Given the description of an element on the screen output the (x, y) to click on. 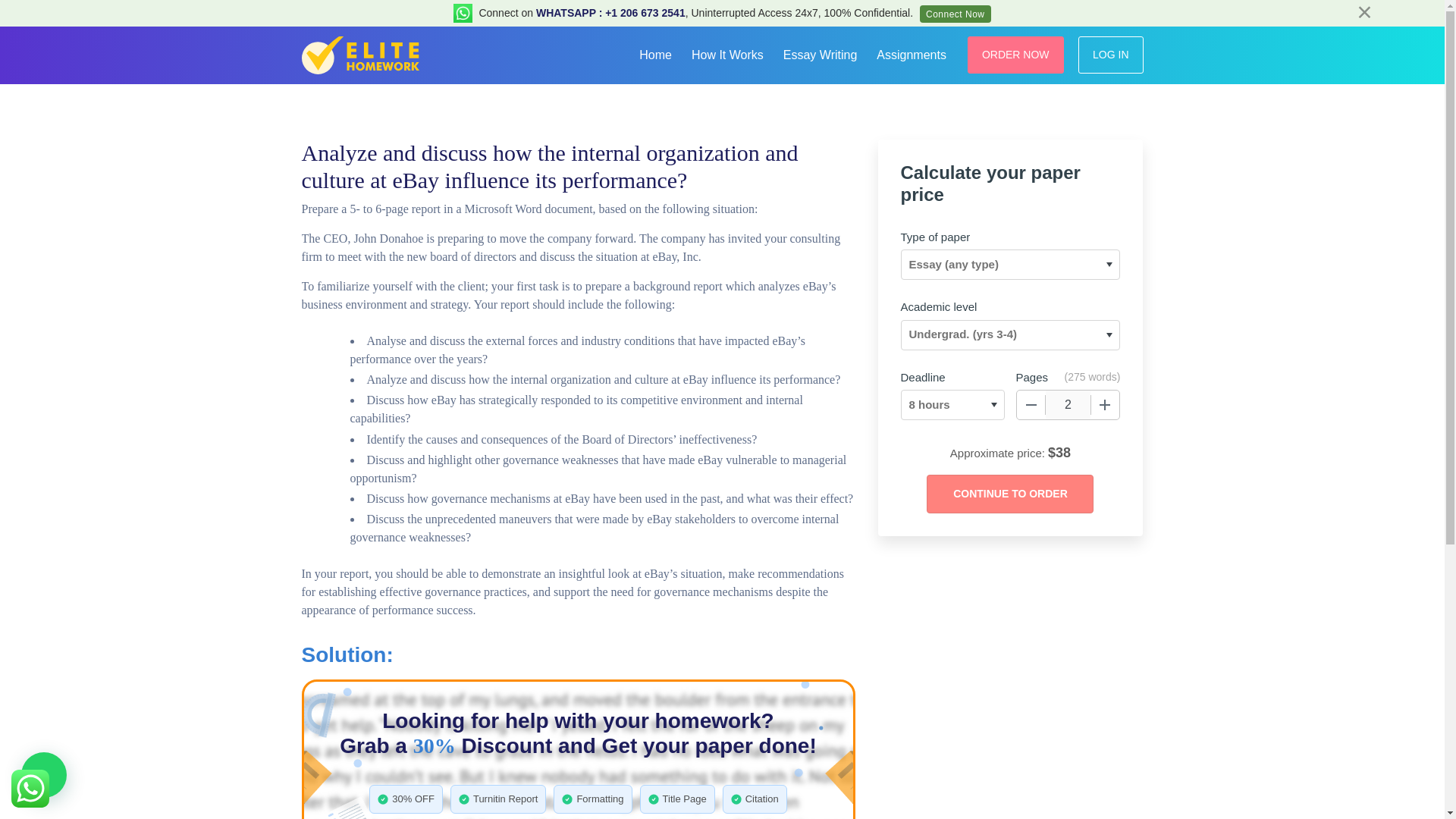
Essay Writing (820, 53)
Essay Writing (820, 53)
Assignments (911, 53)
Decrease (1030, 404)
Continue to order (1009, 494)
ORDER NOW (1016, 54)
Home (655, 53)
How It Works (727, 53)
Home (655, 53)
Continue to order (1009, 494)
Increase (1104, 404)
Assignments (911, 53)
2 (1067, 404)
How It Works (727, 53)
LOG IN (1110, 54)
